Given the description of an element on the screen output the (x, y) to click on. 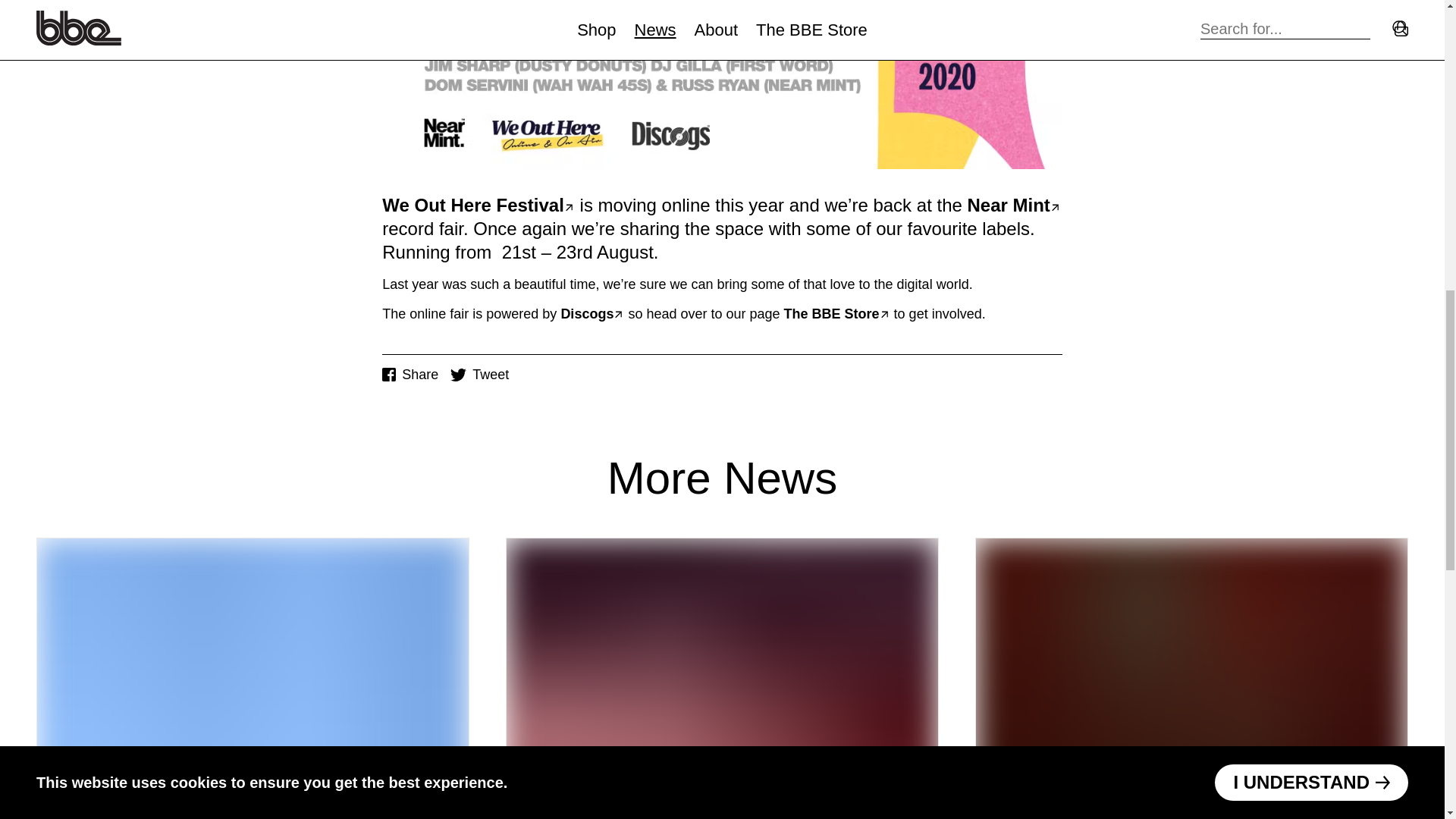
nm2-1 (721, 84)
We Out Here Festival (478, 204)
Discogs (592, 313)
JULY SALE squage (252, 667)
Tweet (478, 374)
Screenshot 2024-05-15 at 12.03.05 (1191, 667)
Near Mint (1014, 204)
The BBE Store (836, 313)
Share (409, 374)
RA.941 MUSCLECARS (721, 667)
